Given the description of an element on the screen output the (x, y) to click on. 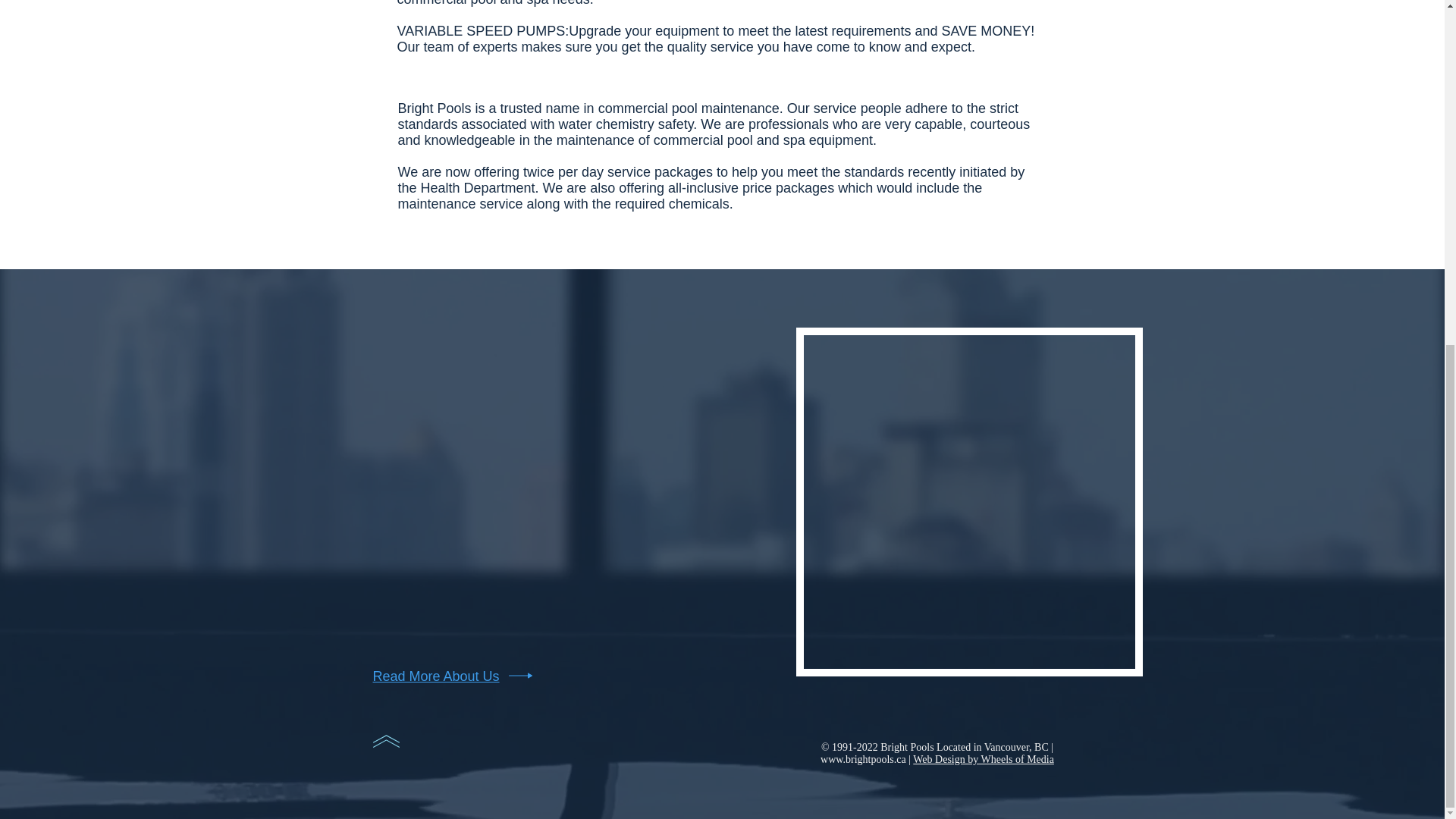
Web Design by Wheels of Media (983, 758)
Read More About Us (435, 676)
www.brightpools.ca (863, 758)
